Given the description of an element on the screen output the (x, y) to click on. 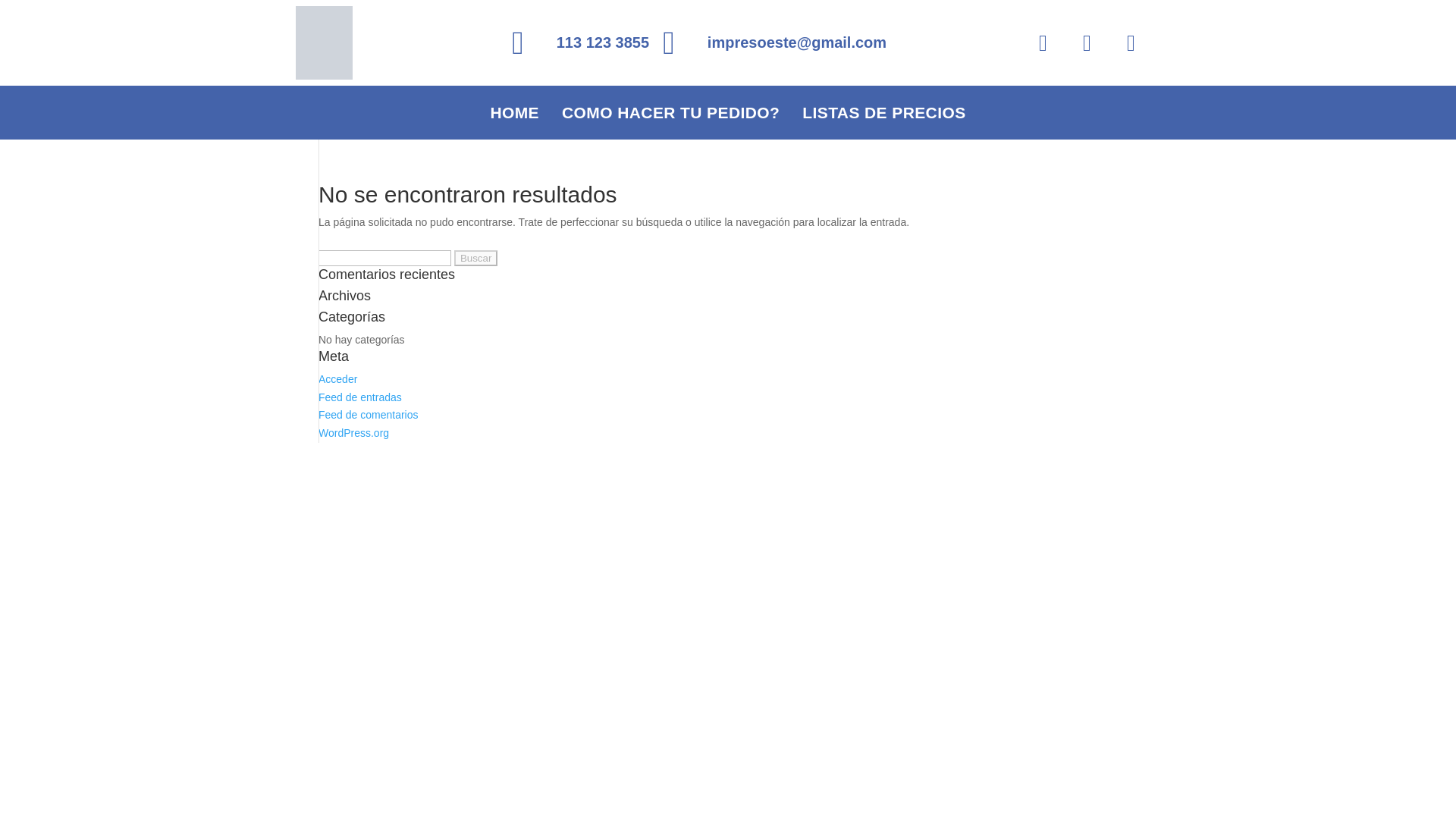
Buscar (475, 258)
Acceder (337, 378)
LISTAS DE PRECIOS (883, 112)
COMO HACER TU PEDIDO? (670, 112)
Buscar (475, 258)
113 123 3855 (580, 42)
HOME (514, 112)
WordPress.org (353, 432)
Feed de entradas (359, 397)
Feed de comentarios (368, 414)
